Given the description of an element on the screen output the (x, y) to click on. 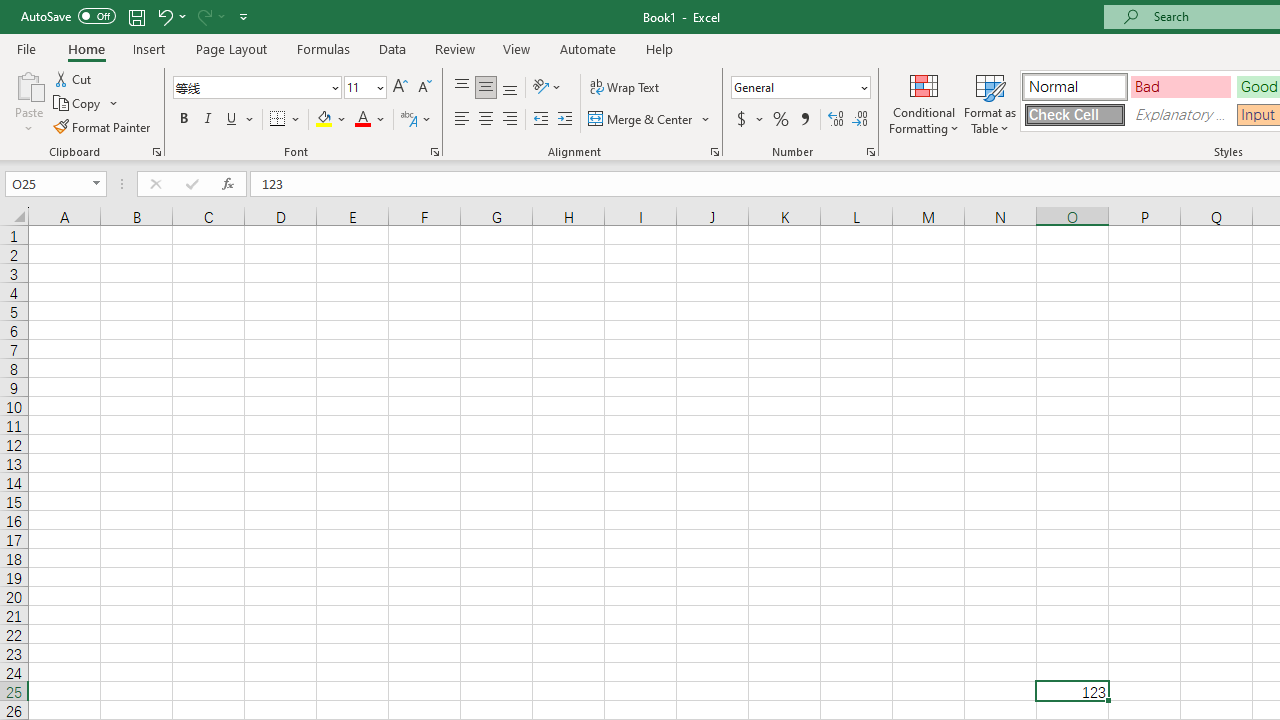
Borders (285, 119)
Decrease Decimal (859, 119)
Bold (183, 119)
Normal (1074, 86)
Accounting Number Format (741, 119)
AutoSave (68, 16)
Comma Style (804, 119)
Underline (232, 119)
Format Cell Font (434, 151)
Open (96, 183)
More Options (760, 119)
Underline (239, 119)
